Given the description of an element on the screen output the (x, y) to click on. 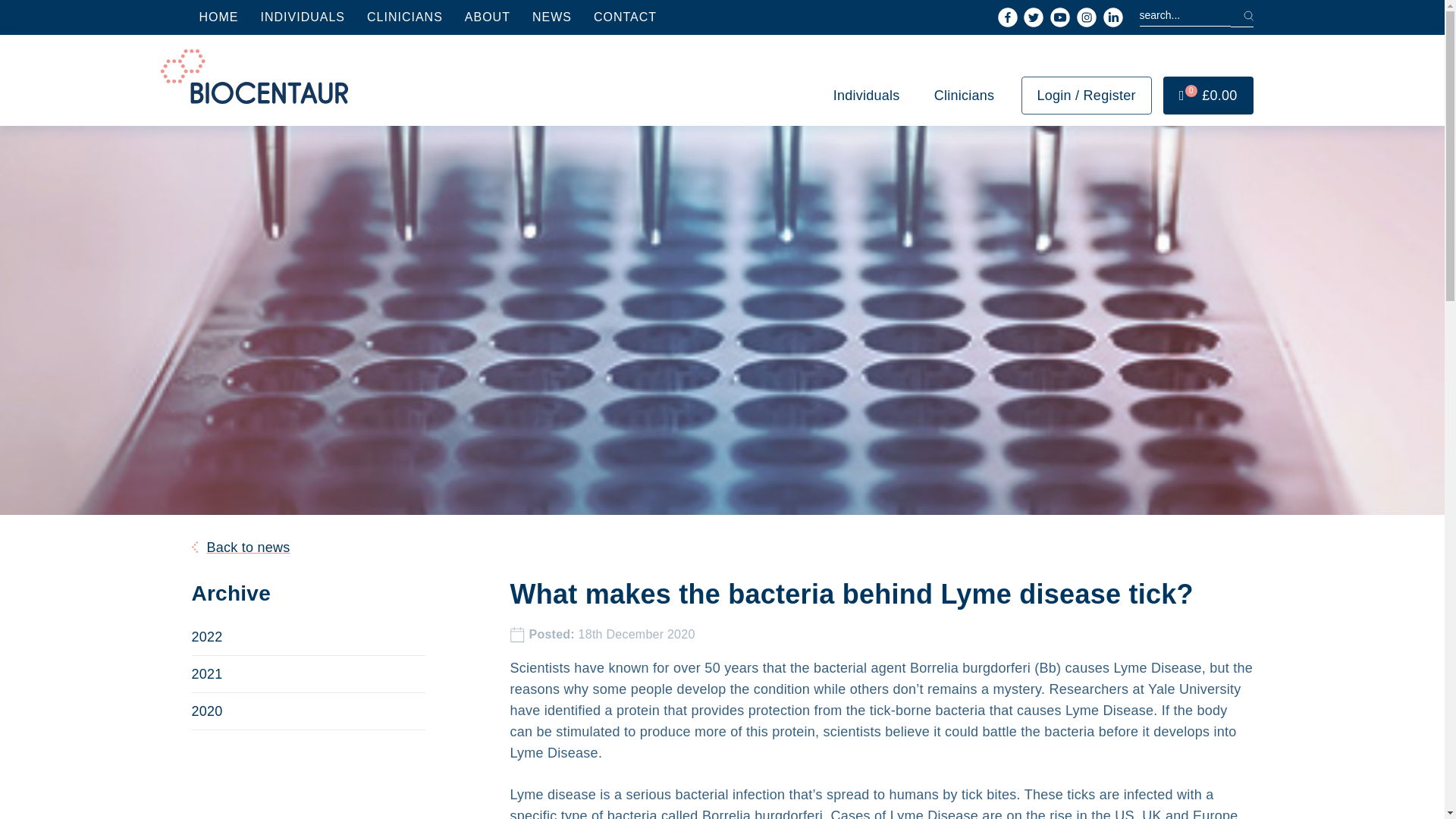
NEWS (551, 17)
ABOUT (487, 17)
INDIVIDUALS (302, 17)
Search (1241, 15)
CLINICIANS (404, 17)
CONTACT (624, 17)
Individuals (866, 94)
Clinicians (964, 94)
Search (1241, 15)
Search (1241, 15)
HOME (218, 17)
